Given the description of an element on the screen output the (x, y) to click on. 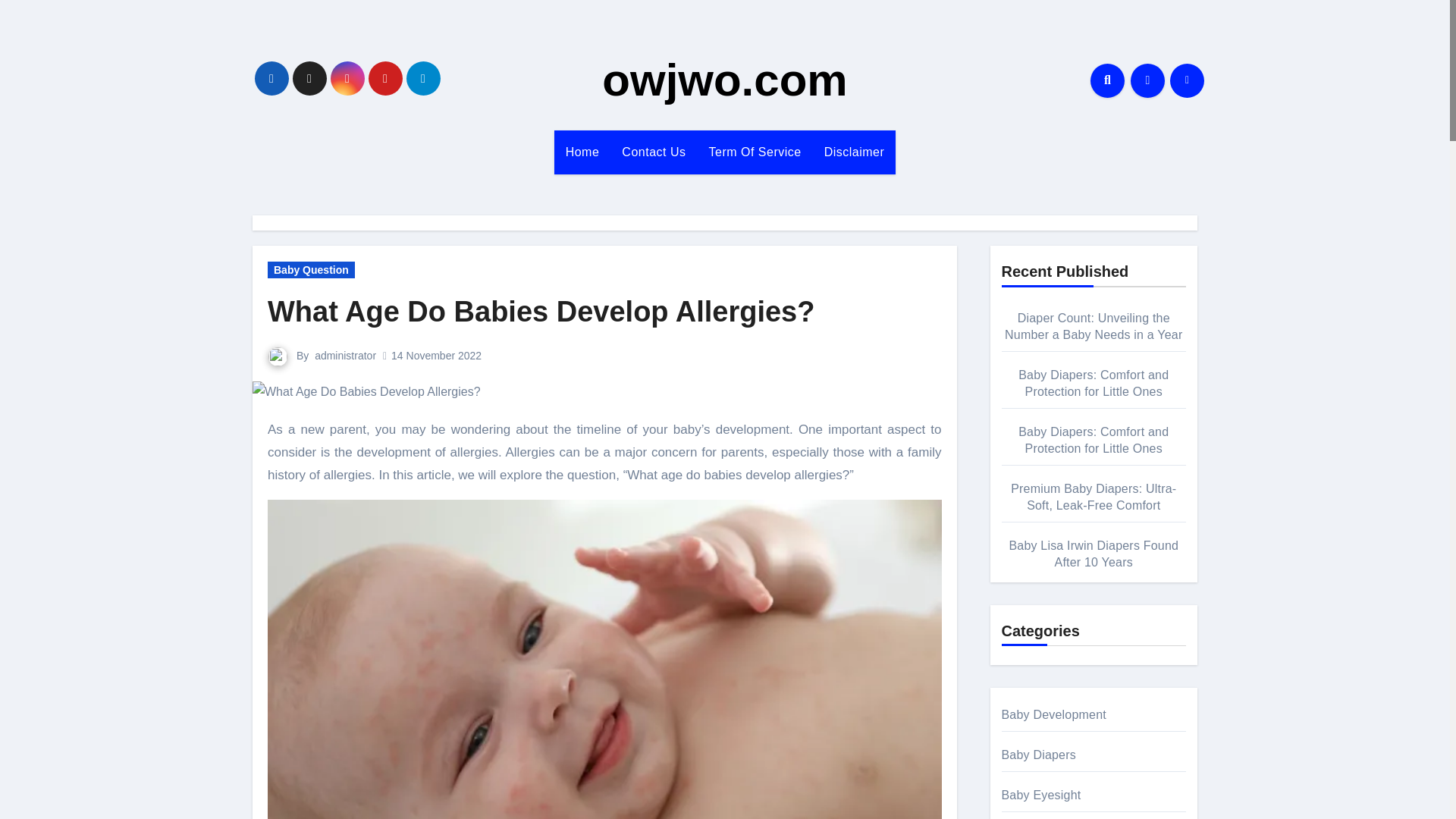
Term Of Service (754, 152)
owjwo.com (724, 79)
administrator (344, 355)
Baby Question (311, 269)
14 November 2022 (436, 355)
Permalink to: What Age Do Babies Develop Allergies? (540, 311)
Contact Us (653, 152)
Home (582, 152)
Disclaimer (854, 152)
Disclaimer (854, 152)
What Age Do Babies Develop Allergies? (540, 311)
Contact Us (653, 152)
Term Of Service (754, 152)
What Age Do Babies Develop Allergies? (365, 391)
Home (582, 152)
